Given the description of an element on the screen output the (x, y) to click on. 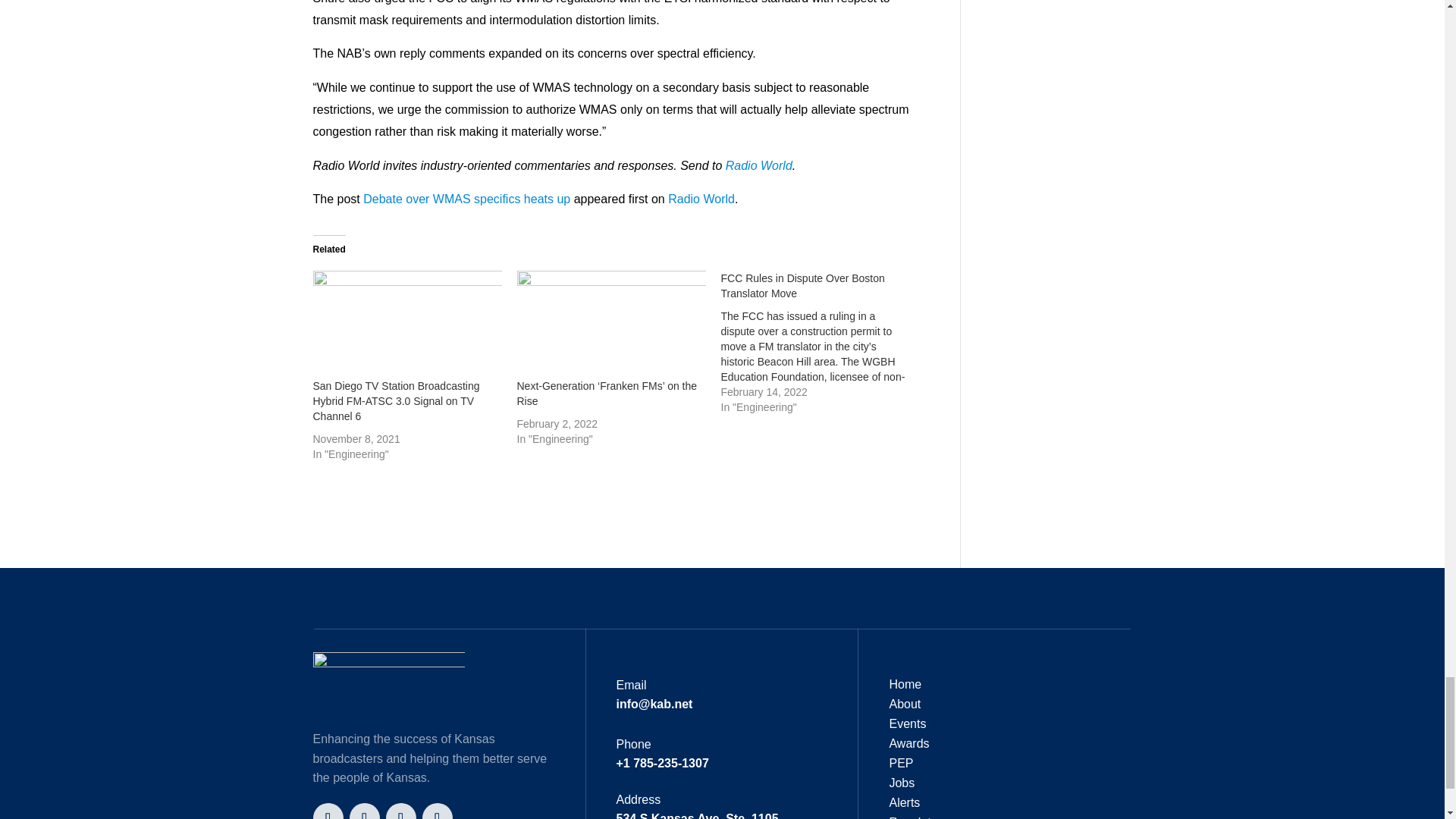
FCC Rules in Dispute Over Boston Translator Move (801, 285)
KAB logo grey (388, 686)
FCC Rules in Dispute Over Boston Translator Move (822, 342)
Follow on X (327, 811)
